Given the description of an element on the screen output the (x, y) to click on. 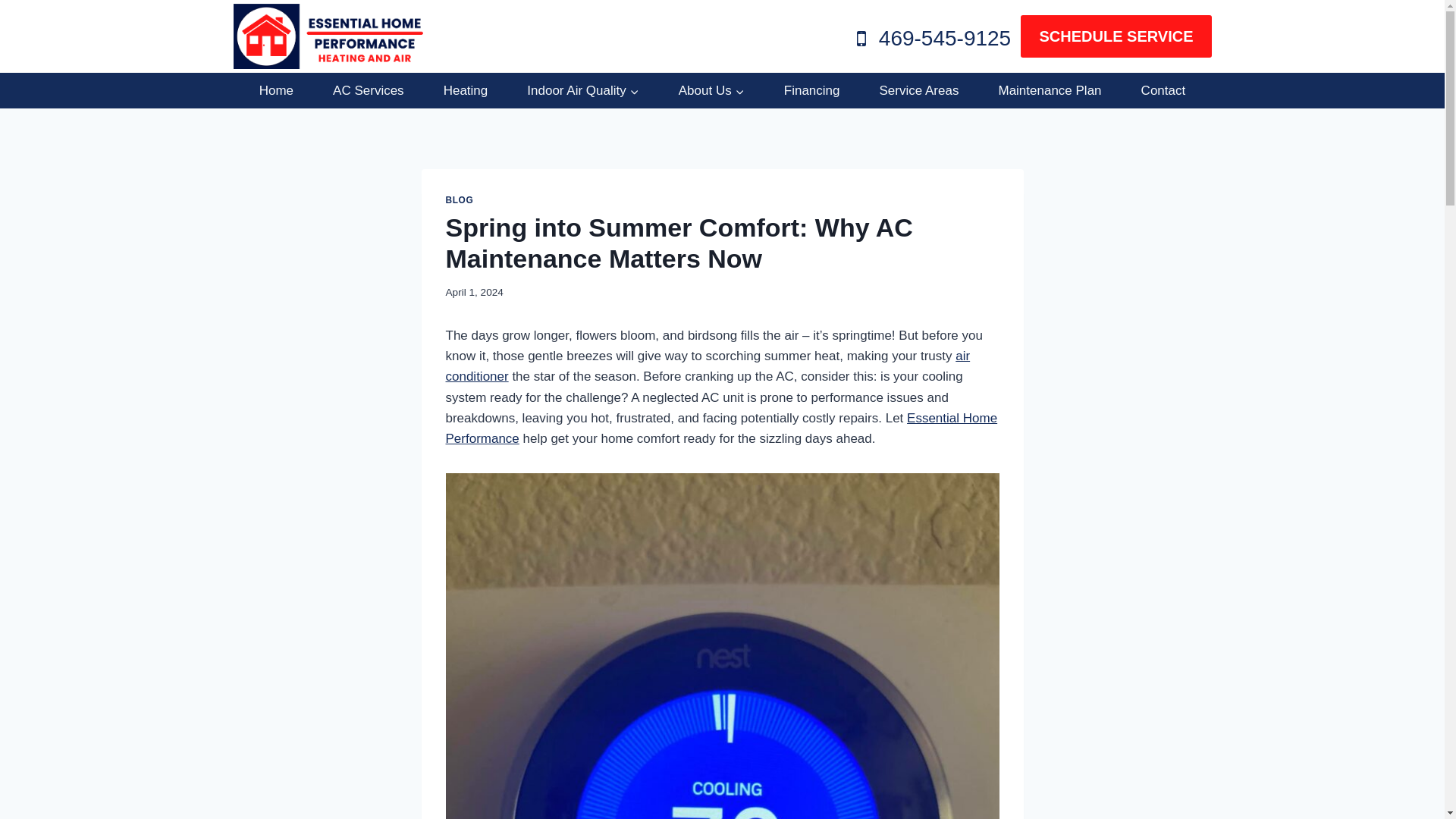
Financing (811, 90)
AC Services (368, 90)
Maintenance Plan (1049, 90)
BLOG (459, 199)
469-545-9125 (930, 39)
Contact (1162, 90)
SCHEDULE SERVICE (1115, 36)
About Us (711, 90)
Indoor Air Quality (582, 90)
